Given the description of an element on the screen output the (x, y) to click on. 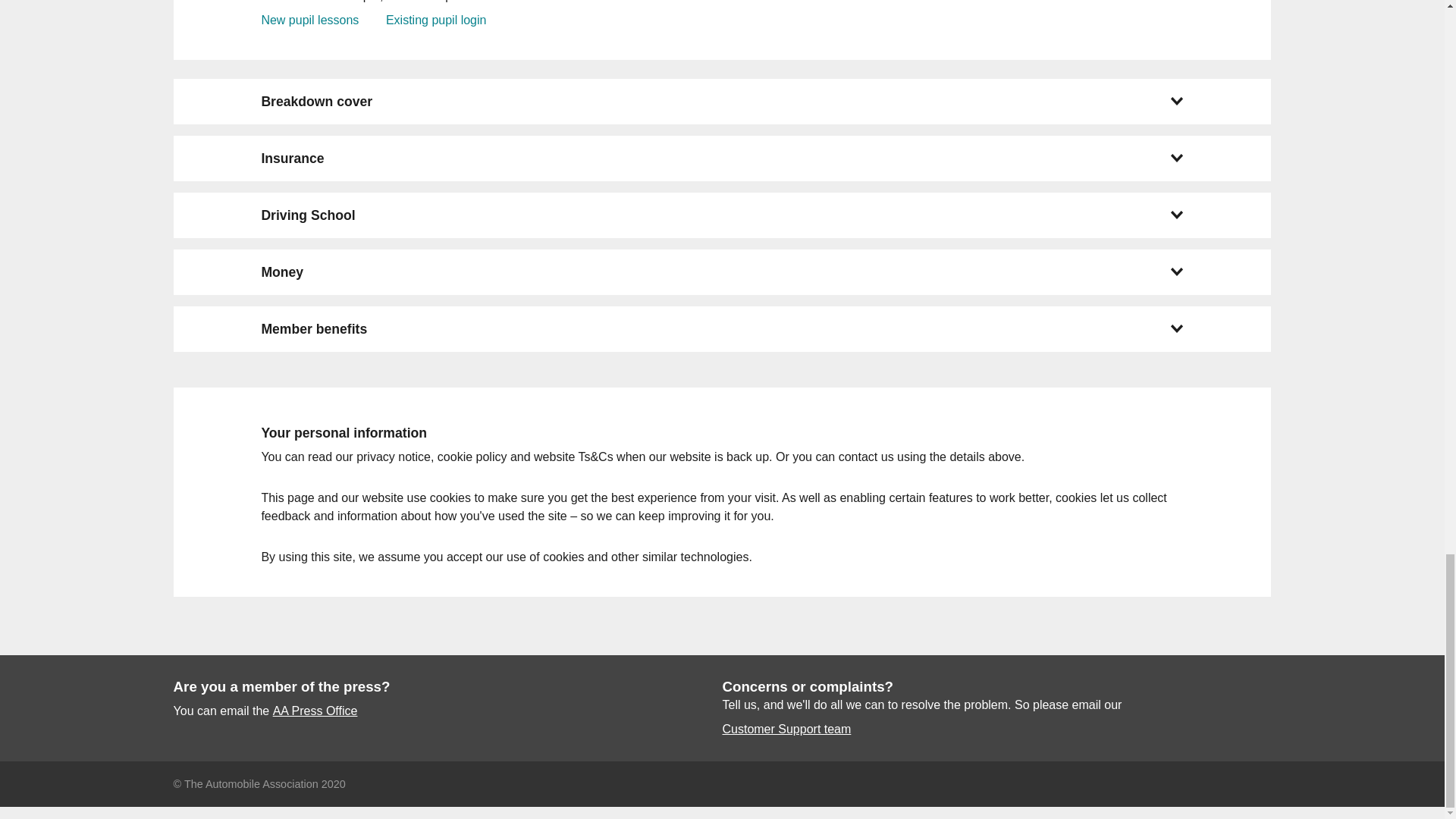
New pupil lessons (309, 20)
Existing pupil login (435, 20)
Customer Support team (786, 729)
AA Press Office (315, 710)
